Given the description of an element on the screen output the (x, y) to click on. 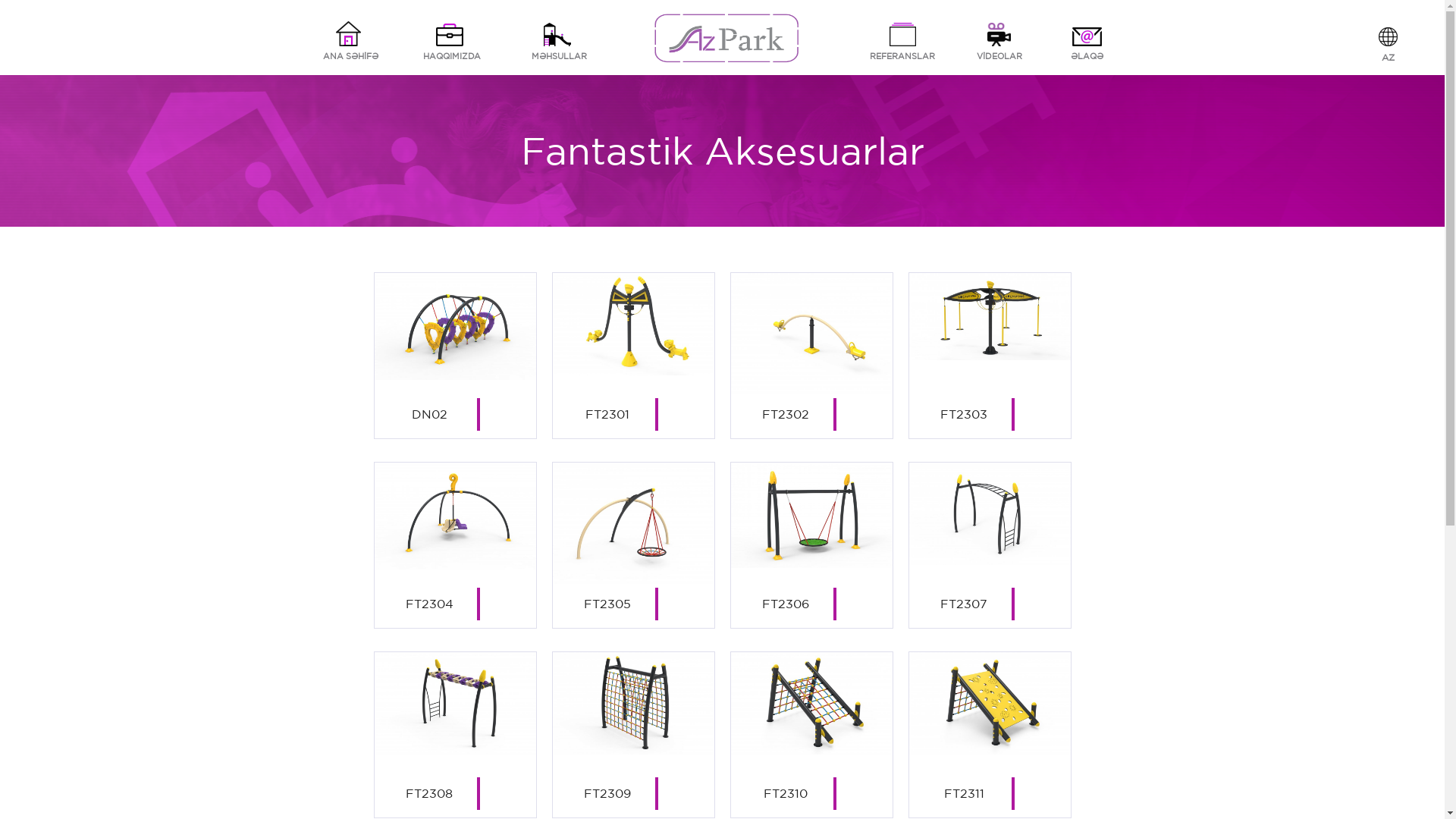
FT2311 Element type: text (989, 734)
AZ Element type: text (1383, 44)
FT2301 Element type: text (632, 355)
FT2309 Element type: text (632, 734)
FT2307 Element type: text (989, 544)
FT2303 Element type: text (989, 355)
FT2310 Element type: text (811, 734)
FT2306 Element type: text (811, 544)
DN02 Element type: text (455, 355)
FT2304 Element type: text (455, 544)
HAQQIMIZDA Element type: text (451, 41)
FT2302 Element type: text (811, 355)
FT2308 Element type: text (455, 734)
FT2305 Element type: text (632, 544)
REFERANSLAR Element type: text (902, 41)
